Given the description of an element on the screen output the (x, y) to click on. 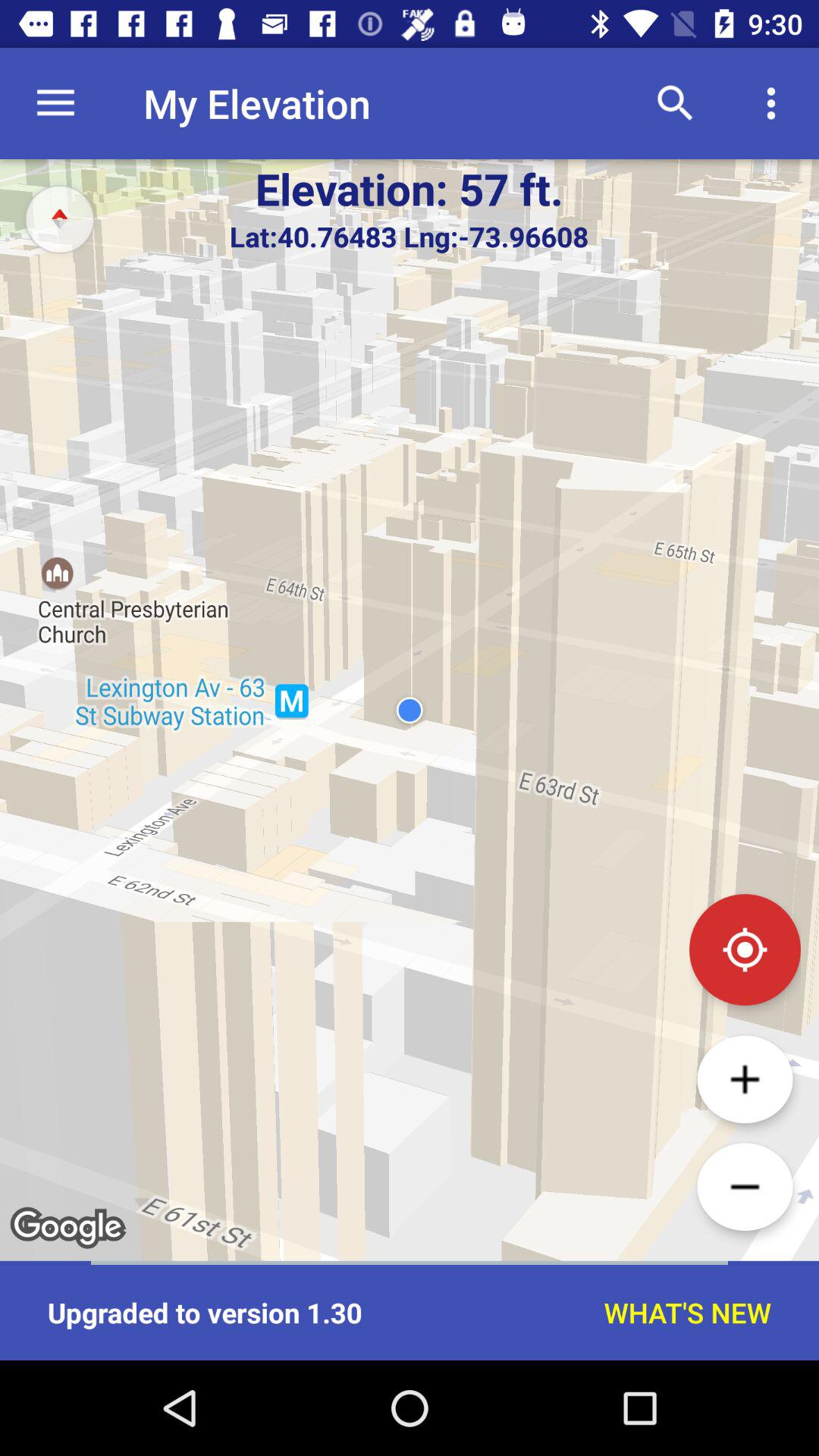
to zoom (744, 1079)
